Given the description of an element on the screen output the (x, y) to click on. 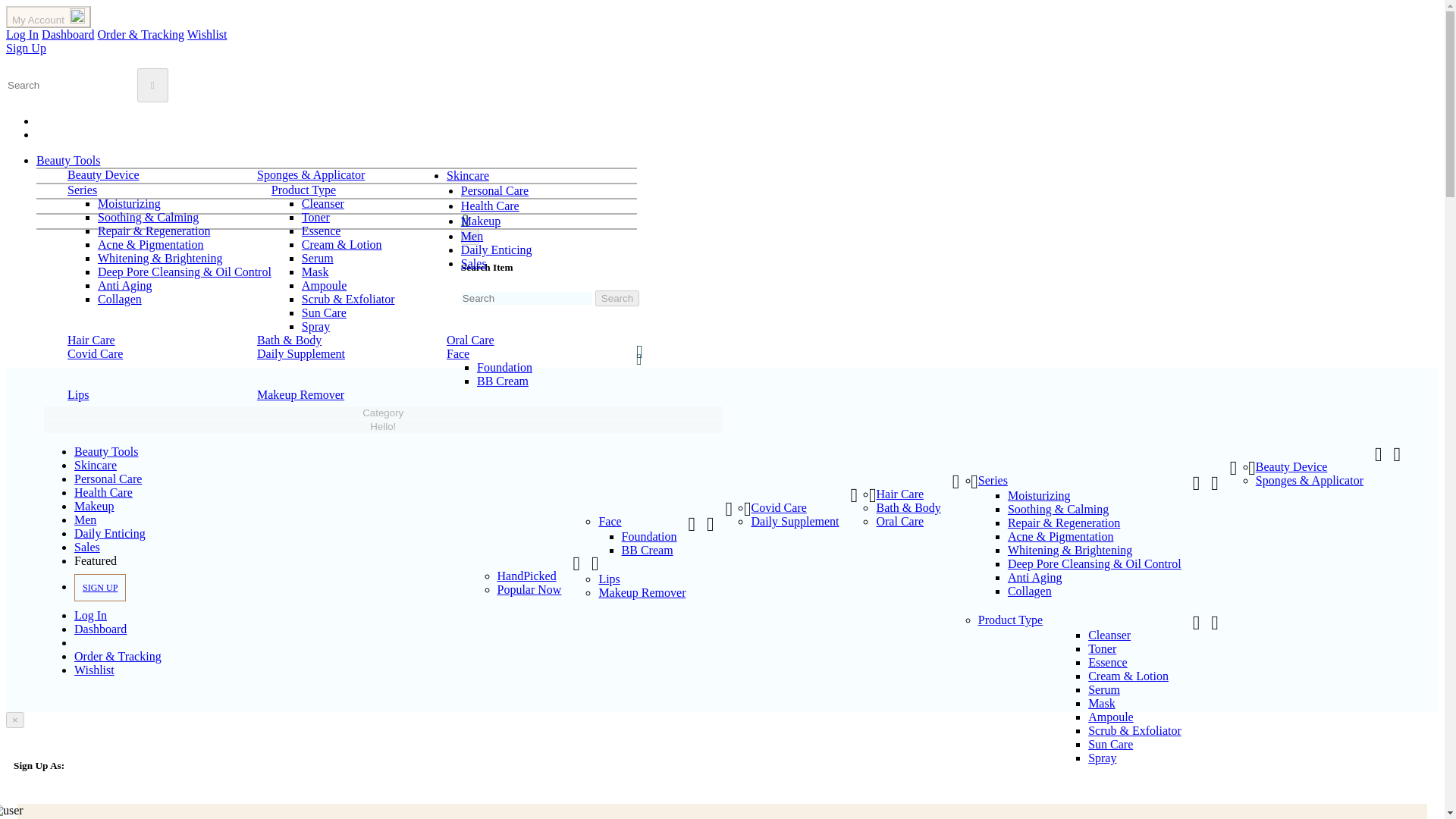
Covid Care (94, 353)
Moisturizing (128, 203)
Toner (315, 216)
Oral Care (470, 339)
Serum (317, 257)
Skincare (467, 174)
Sign Up (25, 47)
Beauty Tools (68, 160)
Hair Care (90, 339)
Mask (315, 271)
Ampoule (324, 285)
Series (81, 189)
Wishlist (207, 33)
Cleanser (322, 203)
Log In (22, 33)
